Given the description of an element on the screen output the (x, y) to click on. 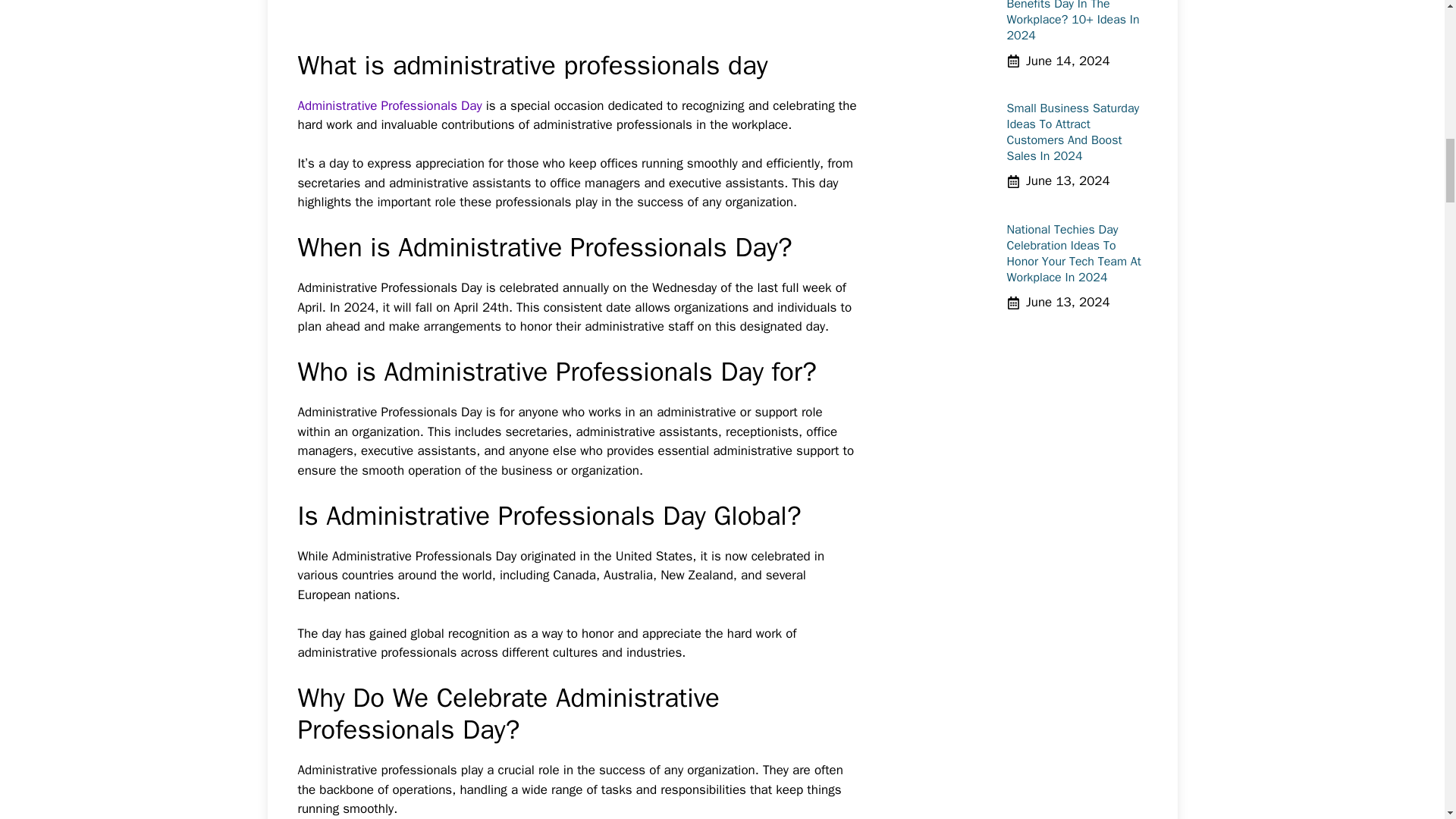
ls Day (463, 105)
Administrative Profession (368, 105)
